Given the description of an element on the screen output the (x, y) to click on. 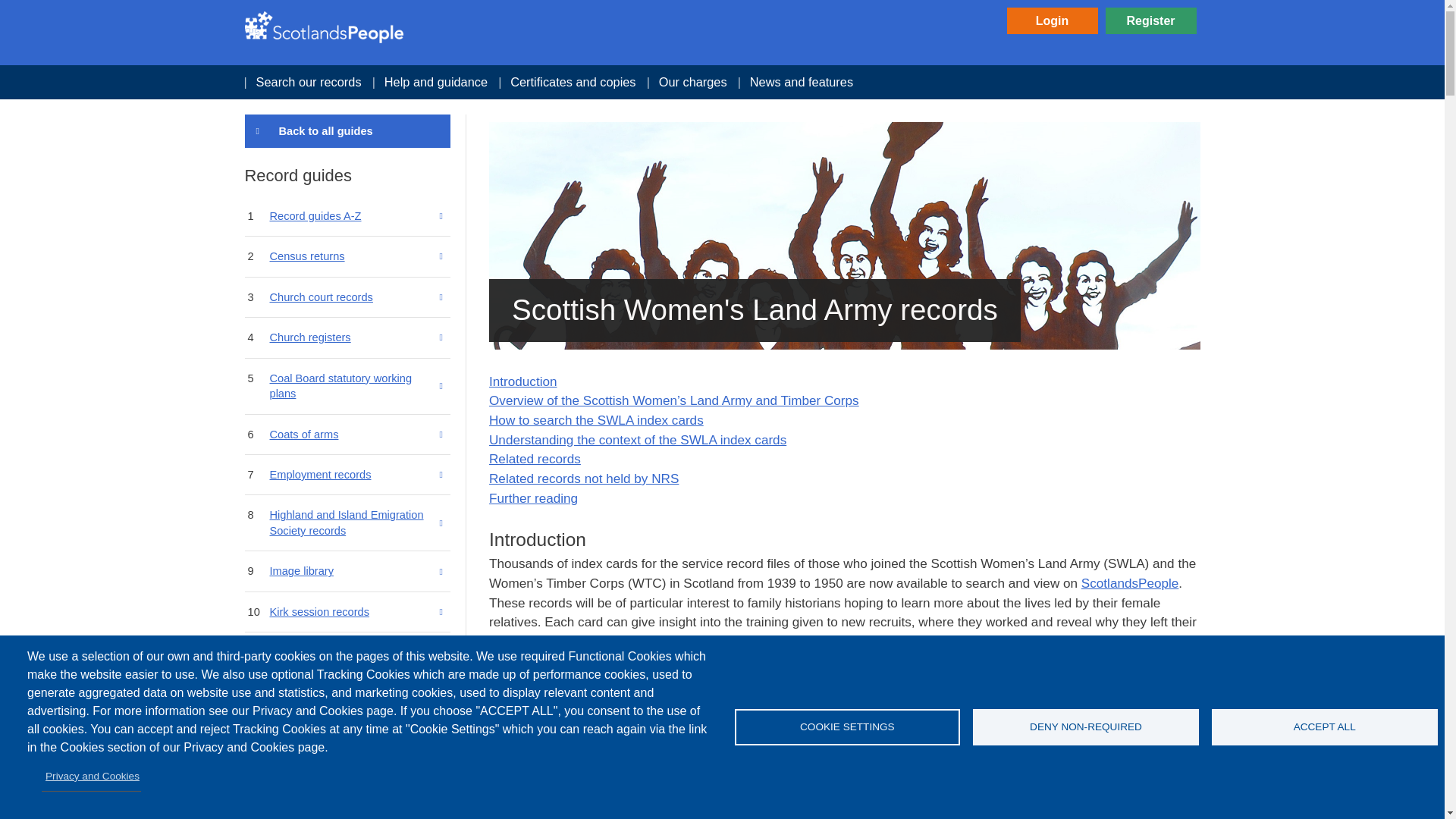
Our charges (692, 82)
Back to all guides (346, 130)
Home (323, 27)
How to search the SWLA index cards (596, 419)
News and features (801, 82)
Understanding the context of the SWLA index cards (637, 439)
Register (1150, 20)
Related records not held by NRS (583, 478)
Skip to main content (721, 1)
Further reading (533, 498)
Introduction (523, 380)
Search our records (308, 82)
Login (1052, 20)
Related records (534, 458)
Help and guidance (435, 82)
